Given the description of an element on the screen output the (x, y) to click on. 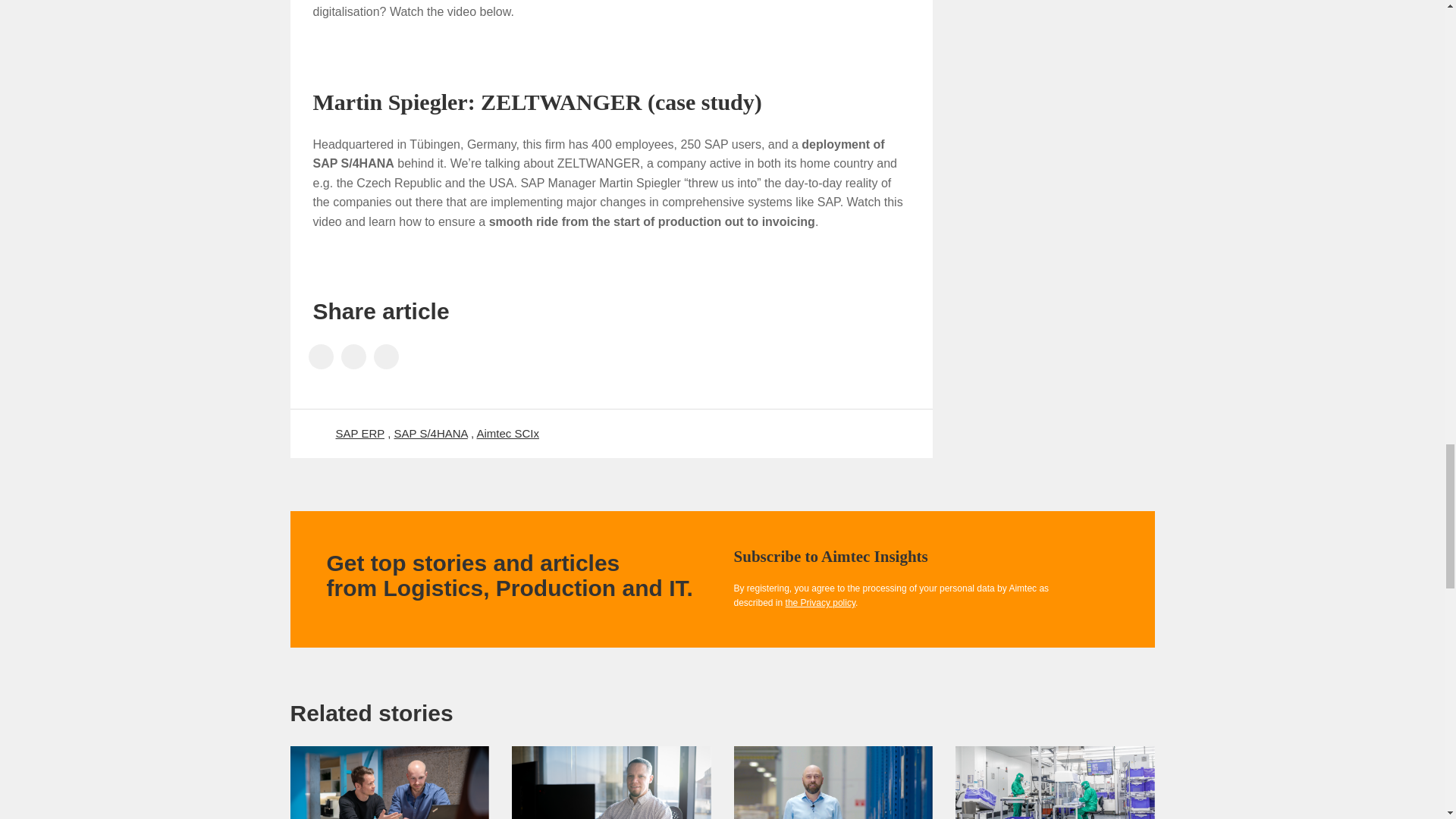
Aimtec SCIx (507, 432)
SAP ERP (359, 432)
